Given the description of an element on the screen output the (x, y) to click on. 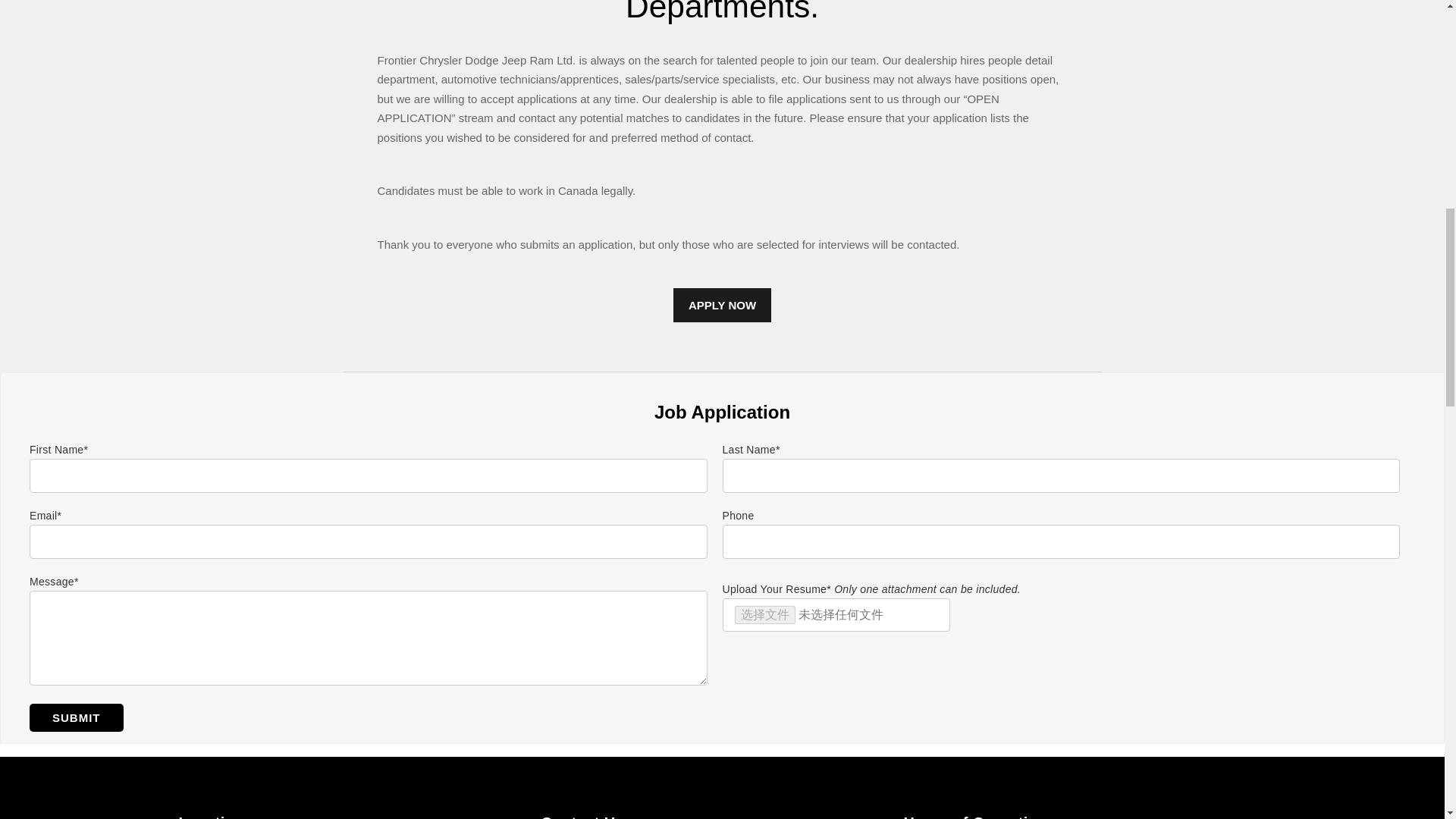
Submit (76, 717)
APPLY NOW (721, 305)
